Given the description of an element on the screen output the (x, y) to click on. 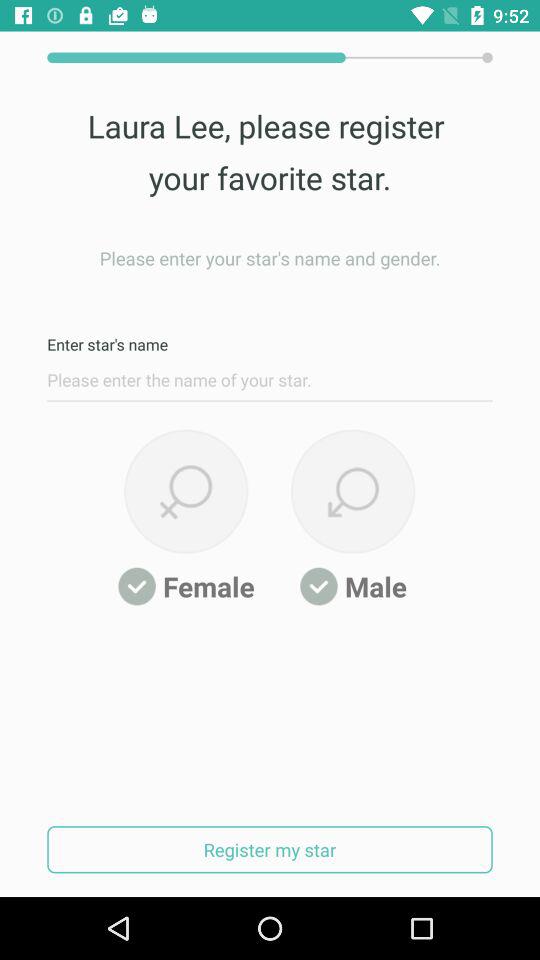
select text field to enter information (269, 385)
